Given the description of an element on the screen output the (x, y) to click on. 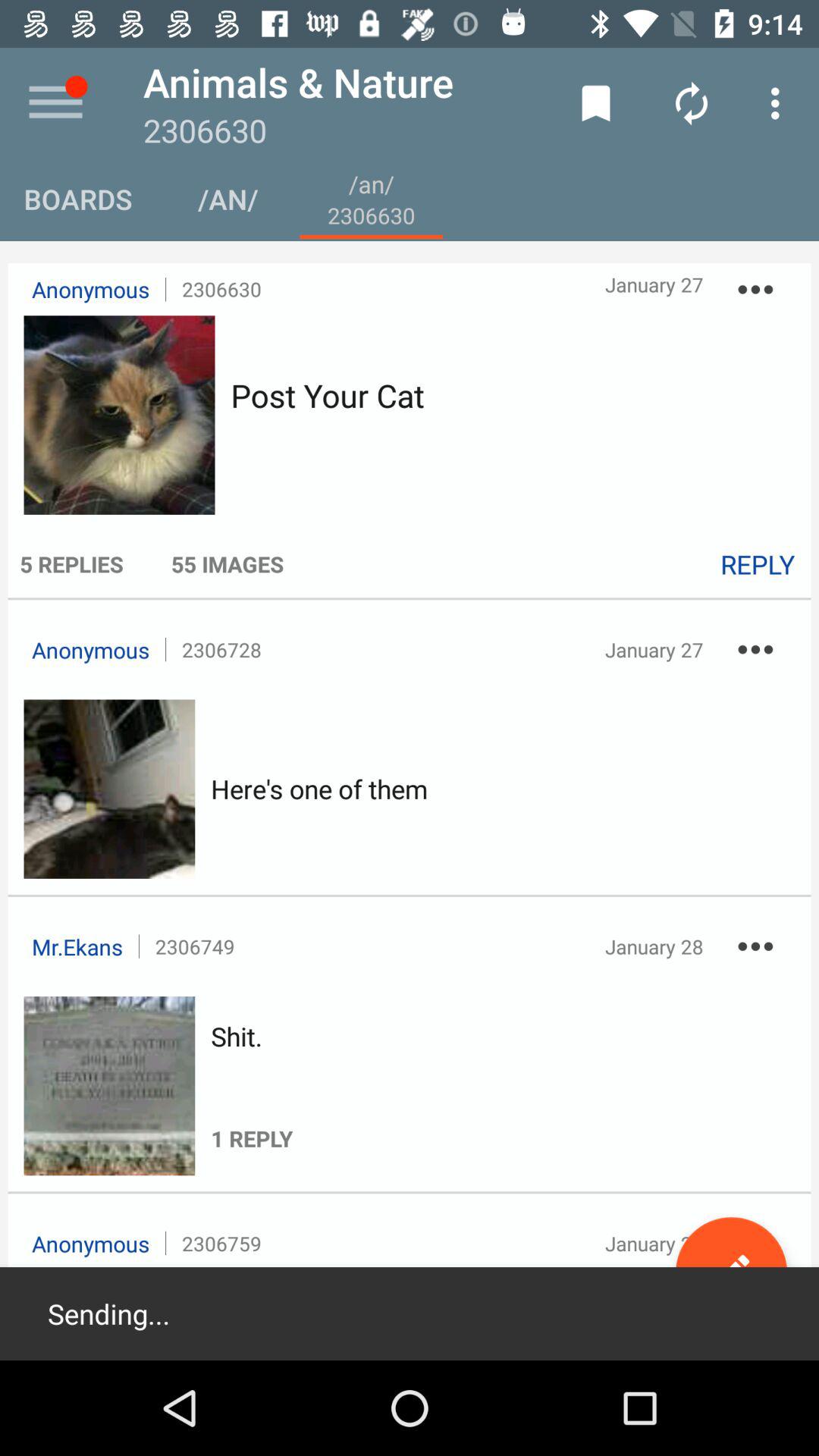
tap the icon next to january 28 item (755, 1243)
